Given the description of an element on the screen output the (x, y) to click on. 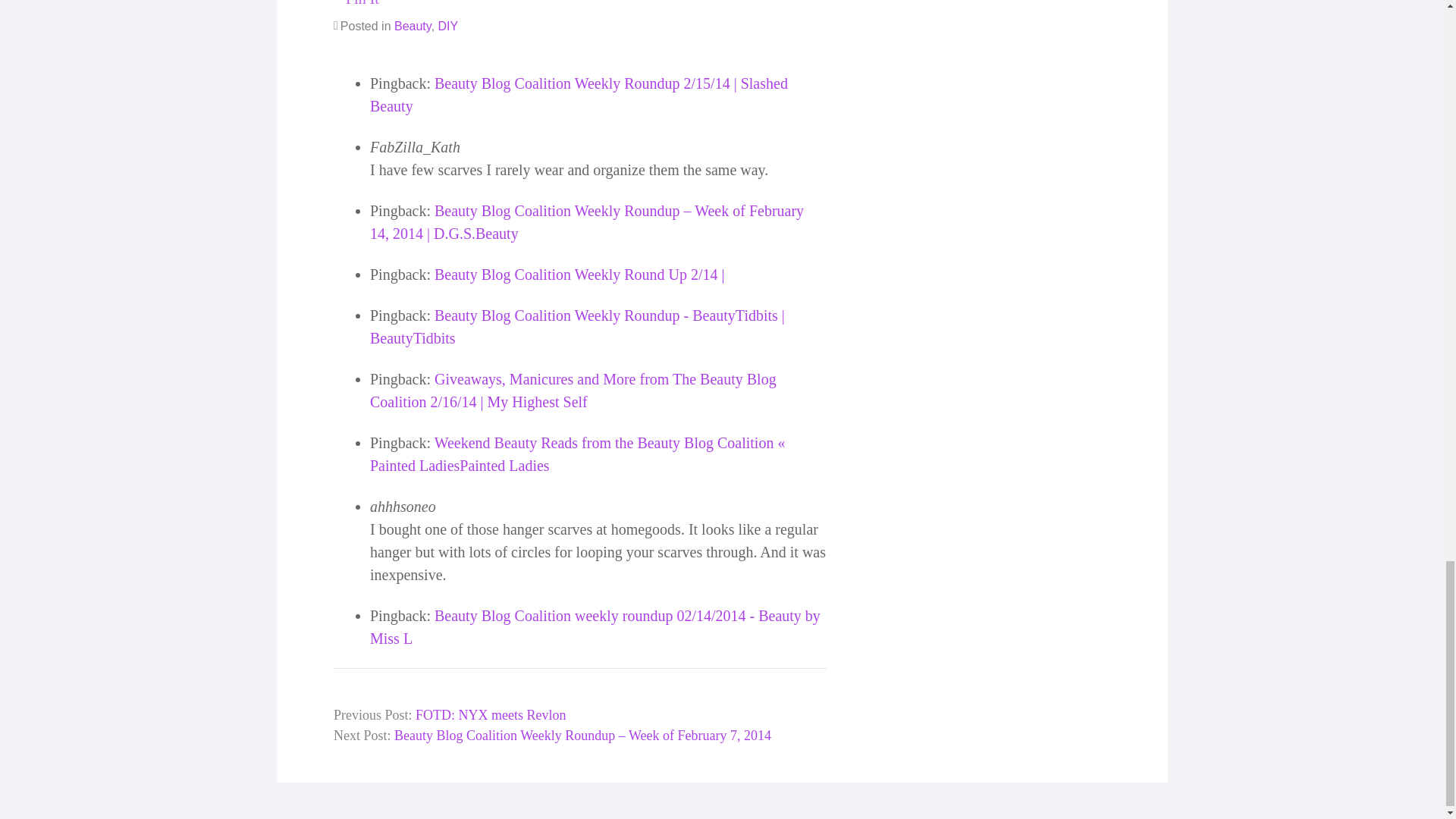
FOTD: NYX meets Revlon (490, 714)
Beauty (412, 25)
Pin It (355, 4)
DIY (448, 25)
